Given the description of an element on the screen output the (x, y) to click on. 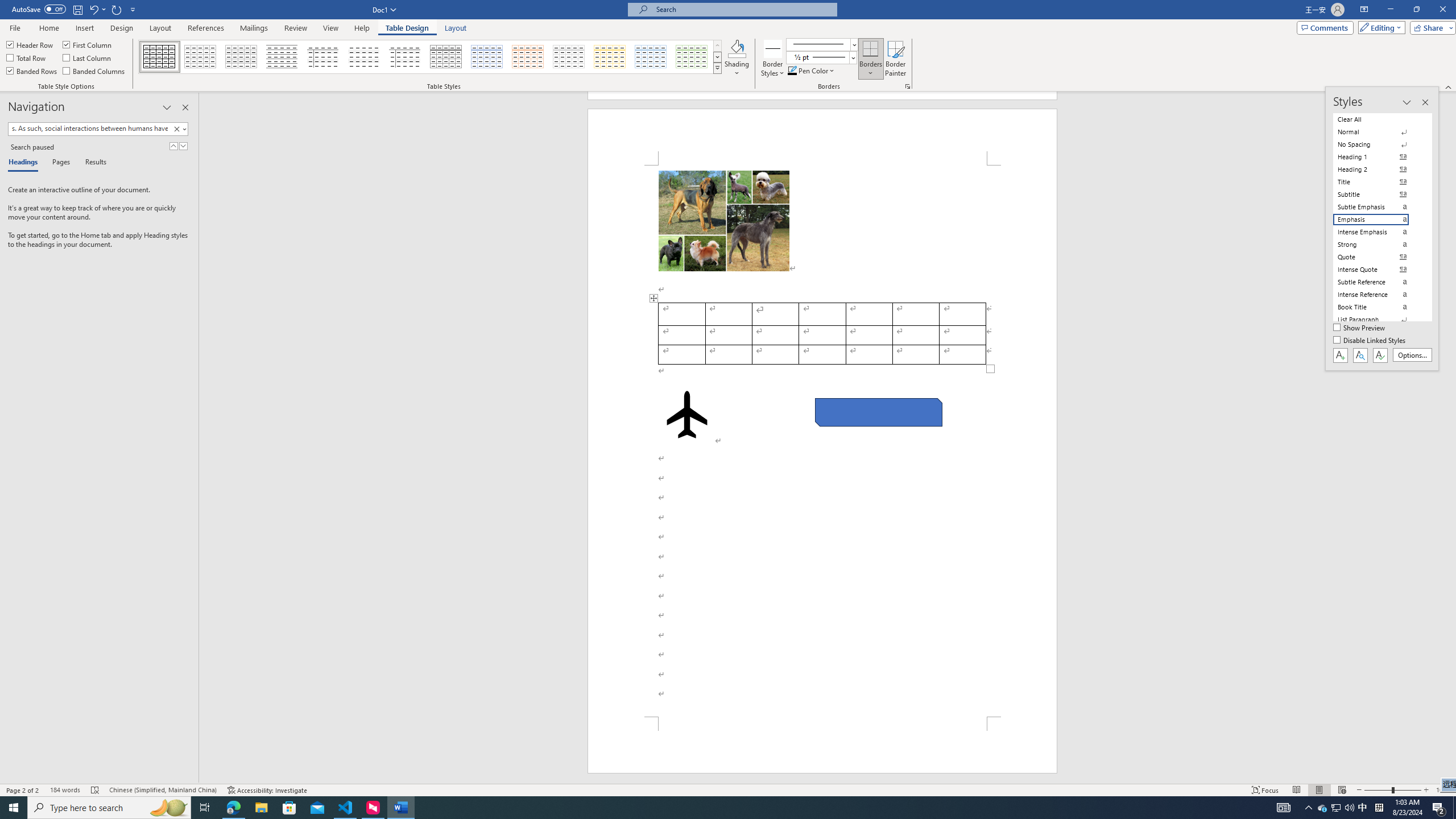
Word Count 184 words (64, 790)
Next Result (183, 145)
Disable Linked Styles (1370, 340)
Plain Table 2 (282, 56)
Intense Quote (1377, 269)
Last Column (88, 56)
Page 2 content (822, 440)
Subtle Reference (1377, 282)
